Given the description of an element on the screen output the (x, y) to click on. 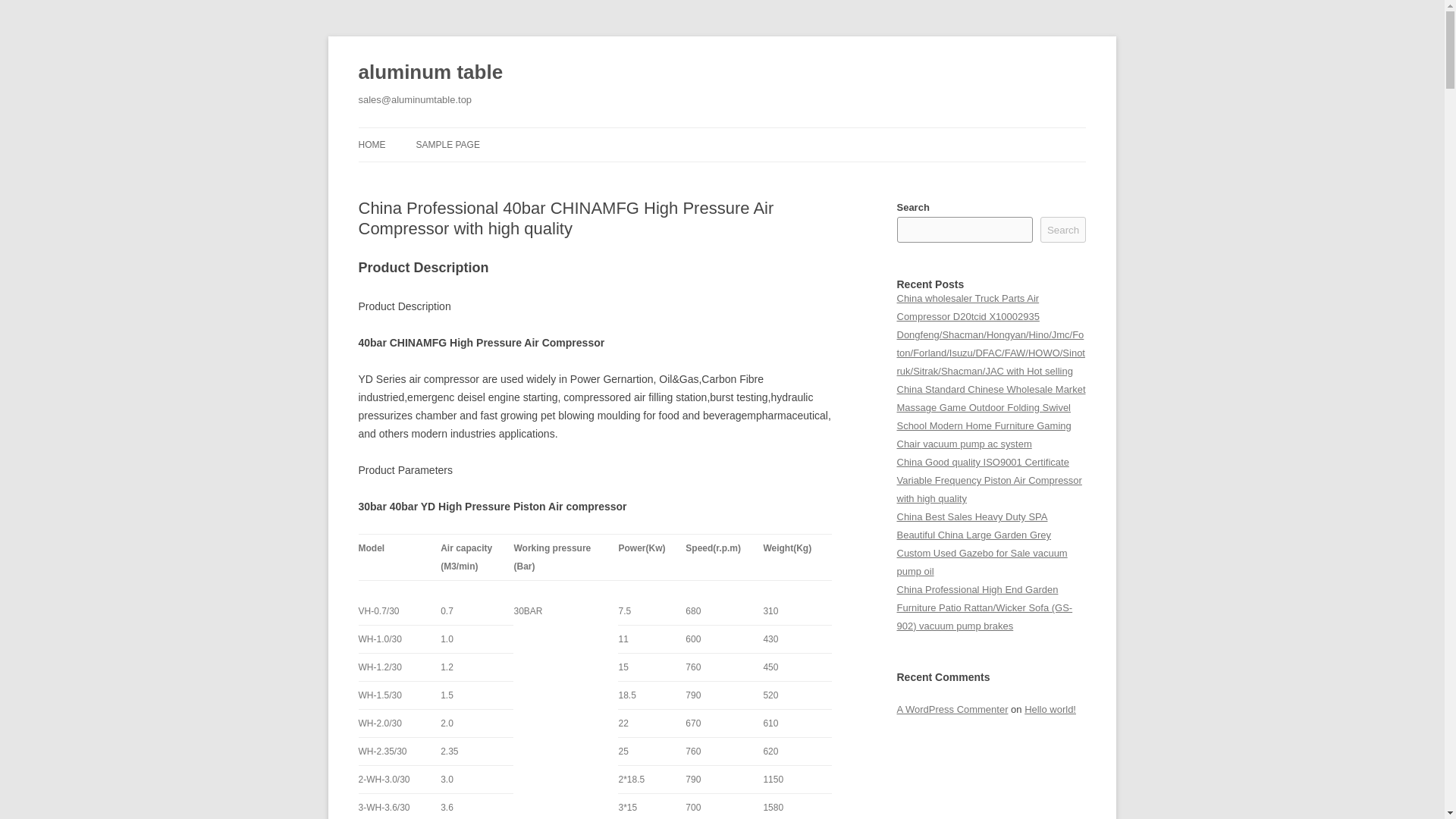
aluminum table (430, 72)
Hello world! (1050, 708)
SAMPLE PAGE (446, 144)
Search (1063, 229)
A WordPress Commenter (951, 708)
